Given the description of an element on the screen output the (x, y) to click on. 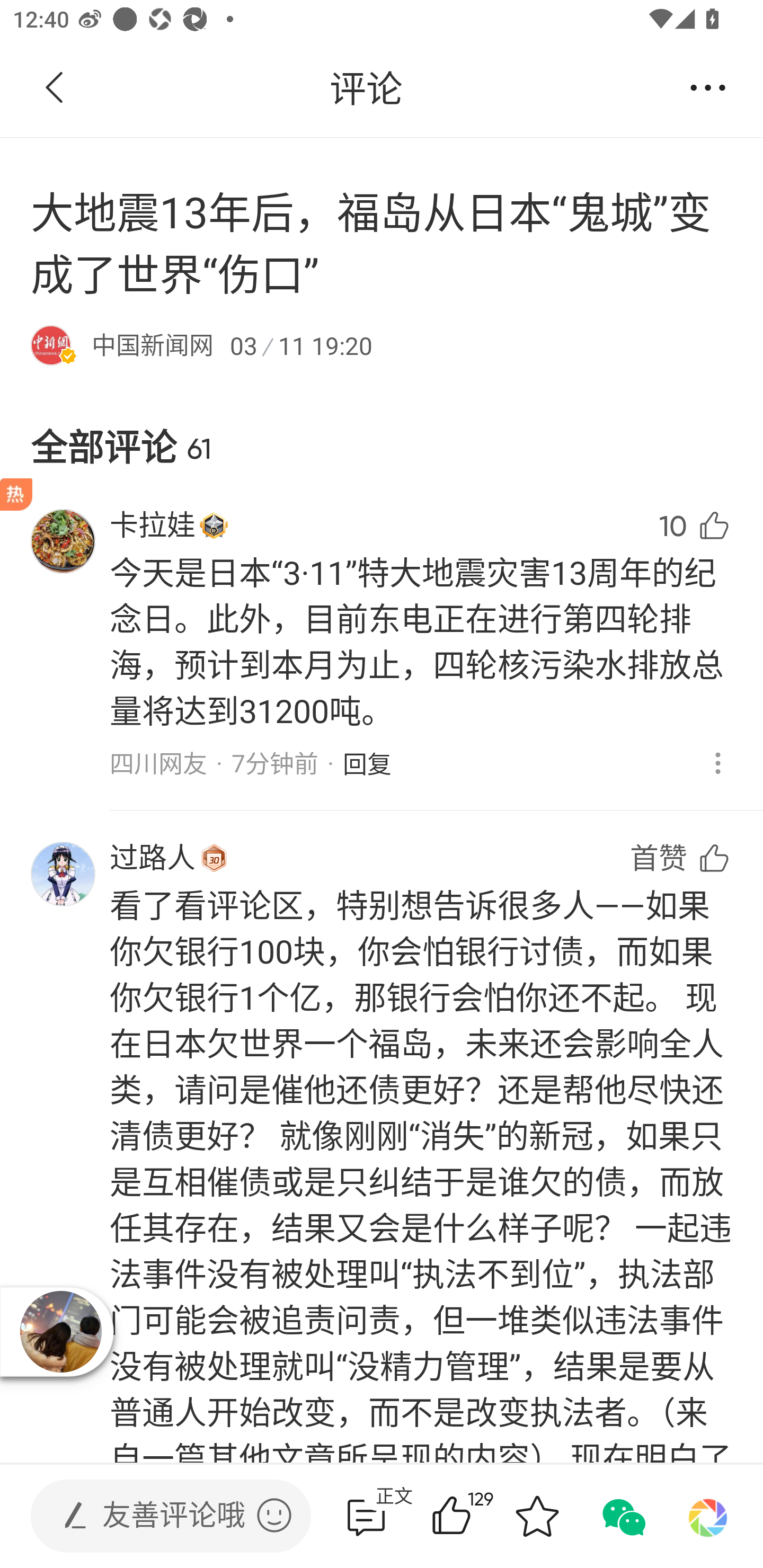
分享  (707, 87)
 返回 (54, 87)
 关注 (395, 88)
中国新闻网 (152, 344)
全部评论 61 (381, 431)
UserRightLabel_OneMedalView 勋章 (213, 525)
UserRightLabel_OneMedalView 勋章 (213, 857)
播放器 (60, 1330)
发表评论  友善评论哦 发表评论  (155, 1516)
61评论  61 评论 (365, 1516)
129赞 (476, 1516)
收藏  (536, 1516)
分享到微信  (622, 1516)
分享到朋友圈 (707, 1516)
 (274, 1515)
